Given the description of an element on the screen output the (x, y) to click on. 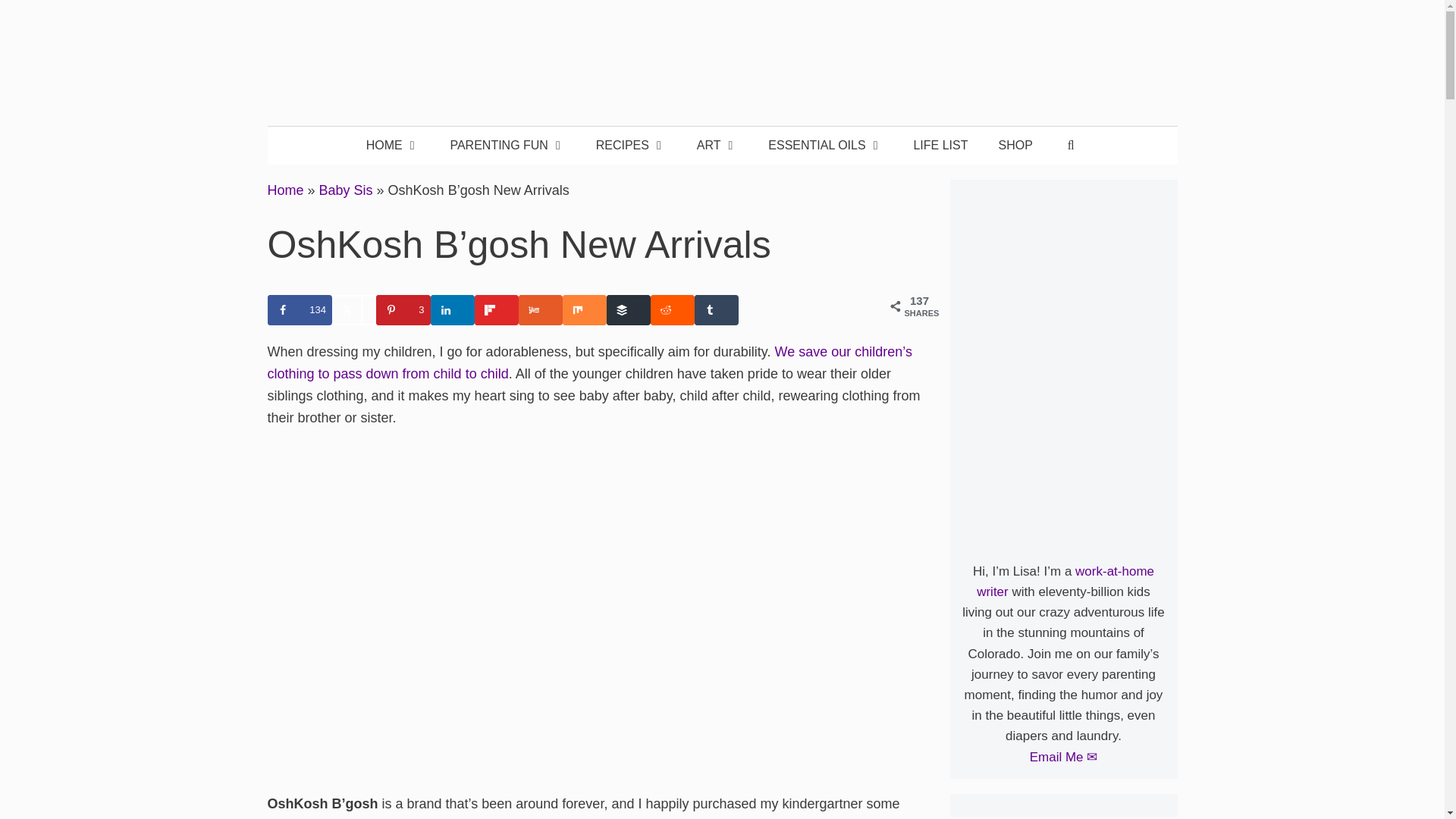
HOME (392, 145)
ART (717, 145)
RECIPES (630, 145)
PARENTING FUN (506, 145)
ESSENTIAL OILS (825, 145)
